Given the description of an element on the screen output the (x, y) to click on. 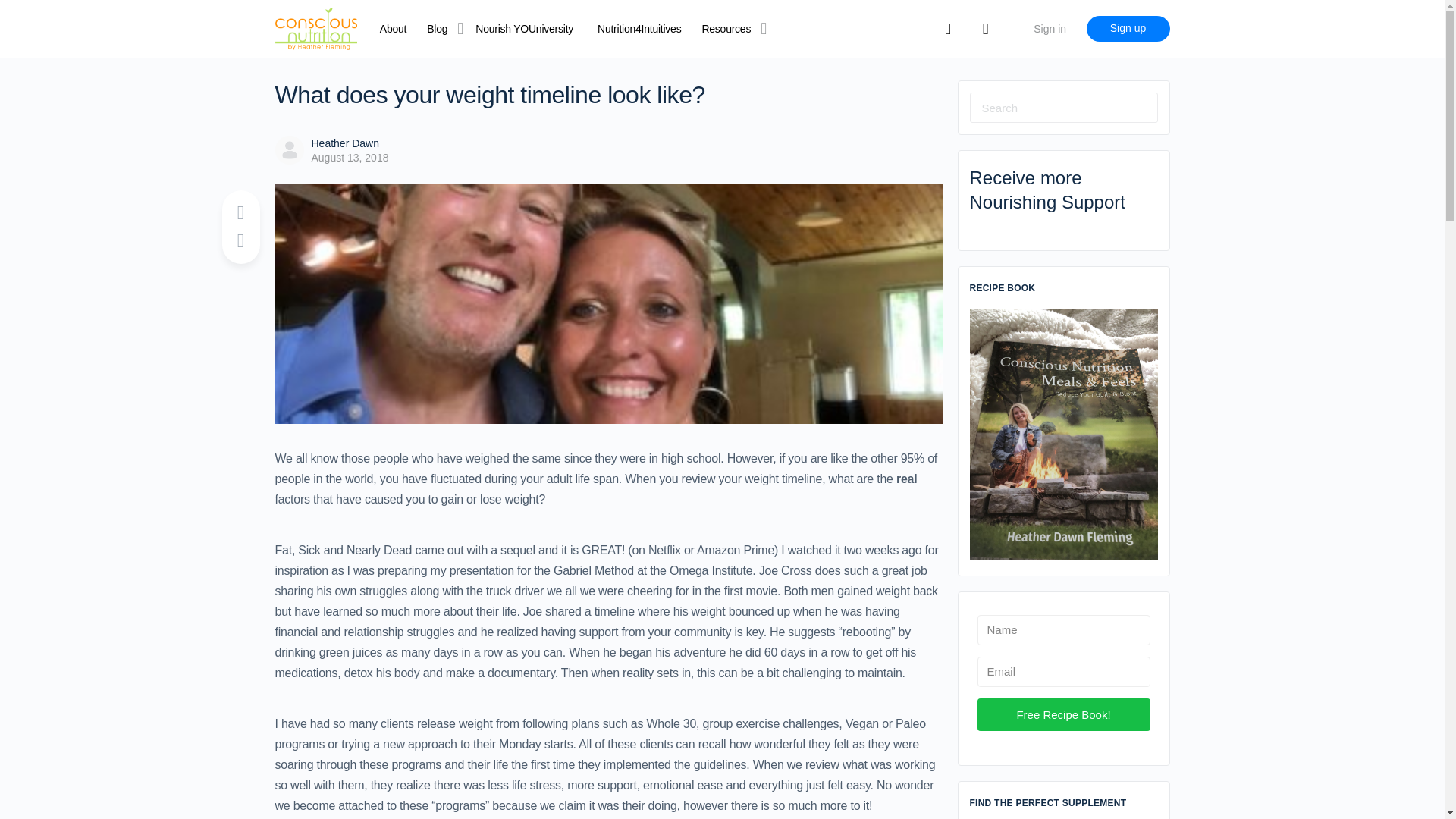
Nourish YOUniversity (524, 28)
Sign up (1127, 28)
Sign in (1050, 28)
Nutrition4Intuitives (638, 28)
